Given the description of an element on the screen output the (x, y) to click on. 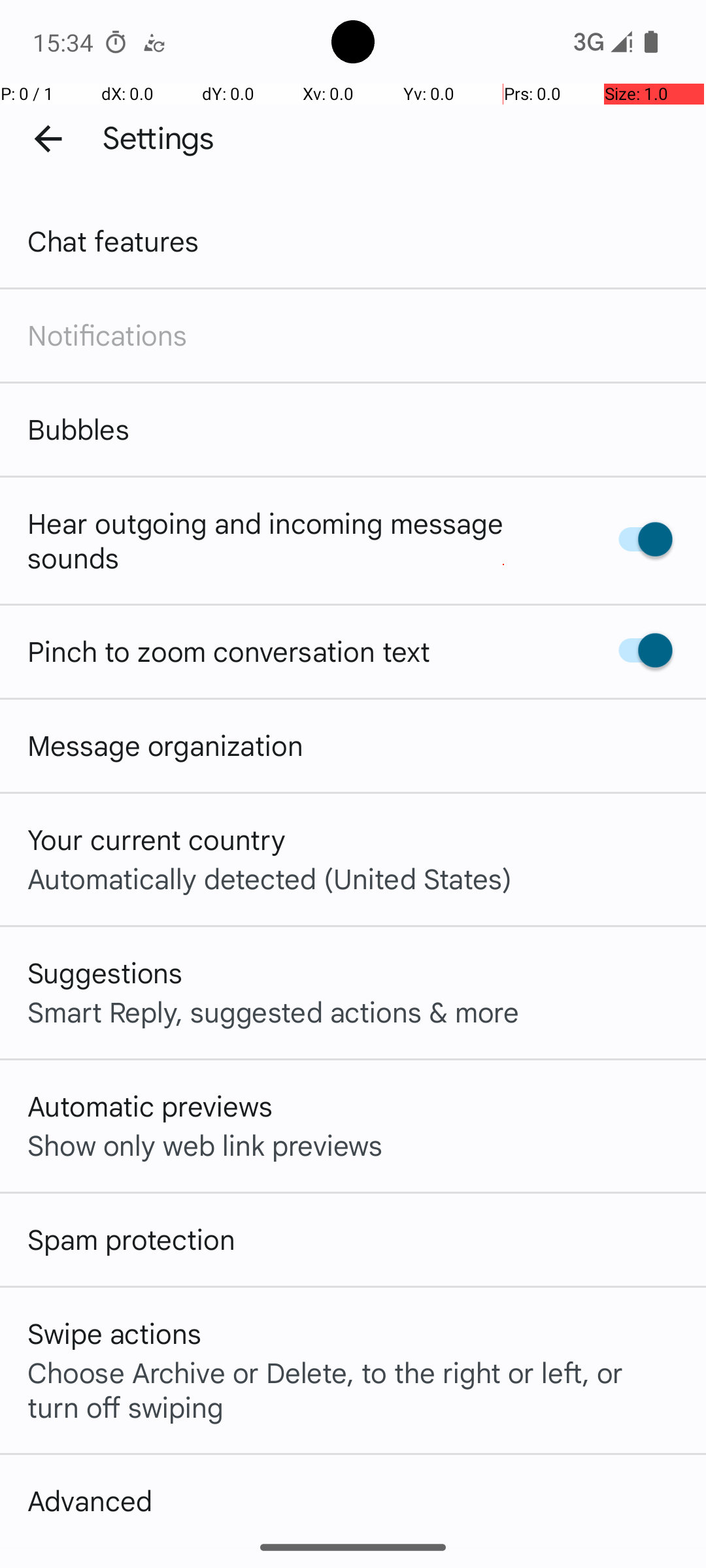
Chat features Element type: android.widget.TextView (113, 240)
Hear outgoing and incoming message sounds Element type: android.widget.TextView (299, 539)
Pinch to zoom conversation text Element type: android.widget.TextView (228, 650)
Message organization Element type: android.widget.TextView (165, 744)
Your current country Element type: android.widget.TextView (156, 838)
Automatically detected (United States) Element type: android.widget.TextView (269, 877)
Smart Reply, suggested actions & more Element type: android.widget.TextView (273, 1010)
Automatic previews Element type: android.widget.TextView (149, 1105)
Show only web link previews Element type: android.widget.TextView (205, 1144)
Spam protection Element type: android.widget.TextView (131, 1238)
Swipe actions Element type: android.widget.TextView (114, 1332)
Choose Archive or Delete, to the right or left, or turn off swiping Element type: android.widget.TextView (352, 1388)
